Given the description of an element on the screen output the (x, y) to click on. 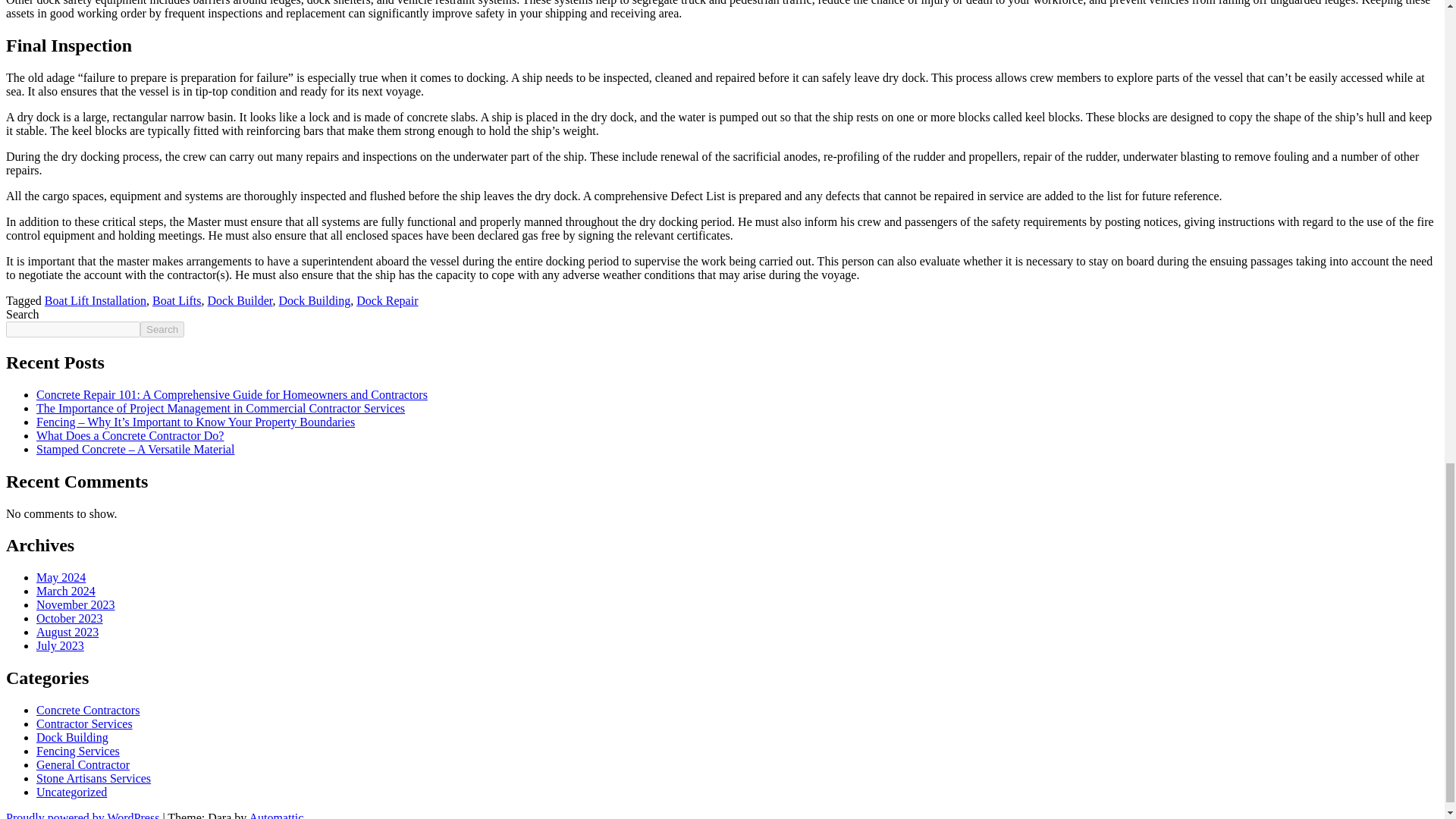
Boat Lift Installation (96, 300)
Stone Artisans Services (93, 778)
Uncategorized (71, 791)
March 2024 (66, 590)
Fencing Services (77, 750)
What Does a Concrete Contractor Do? (130, 435)
August 2023 (67, 631)
Boat Lifts (176, 300)
Dock Building (71, 737)
October 2023 (69, 617)
Concrete Contractors (87, 709)
May 2024 (60, 576)
Dock Builder (240, 300)
